Given the description of an element on the screen output the (x, y) to click on. 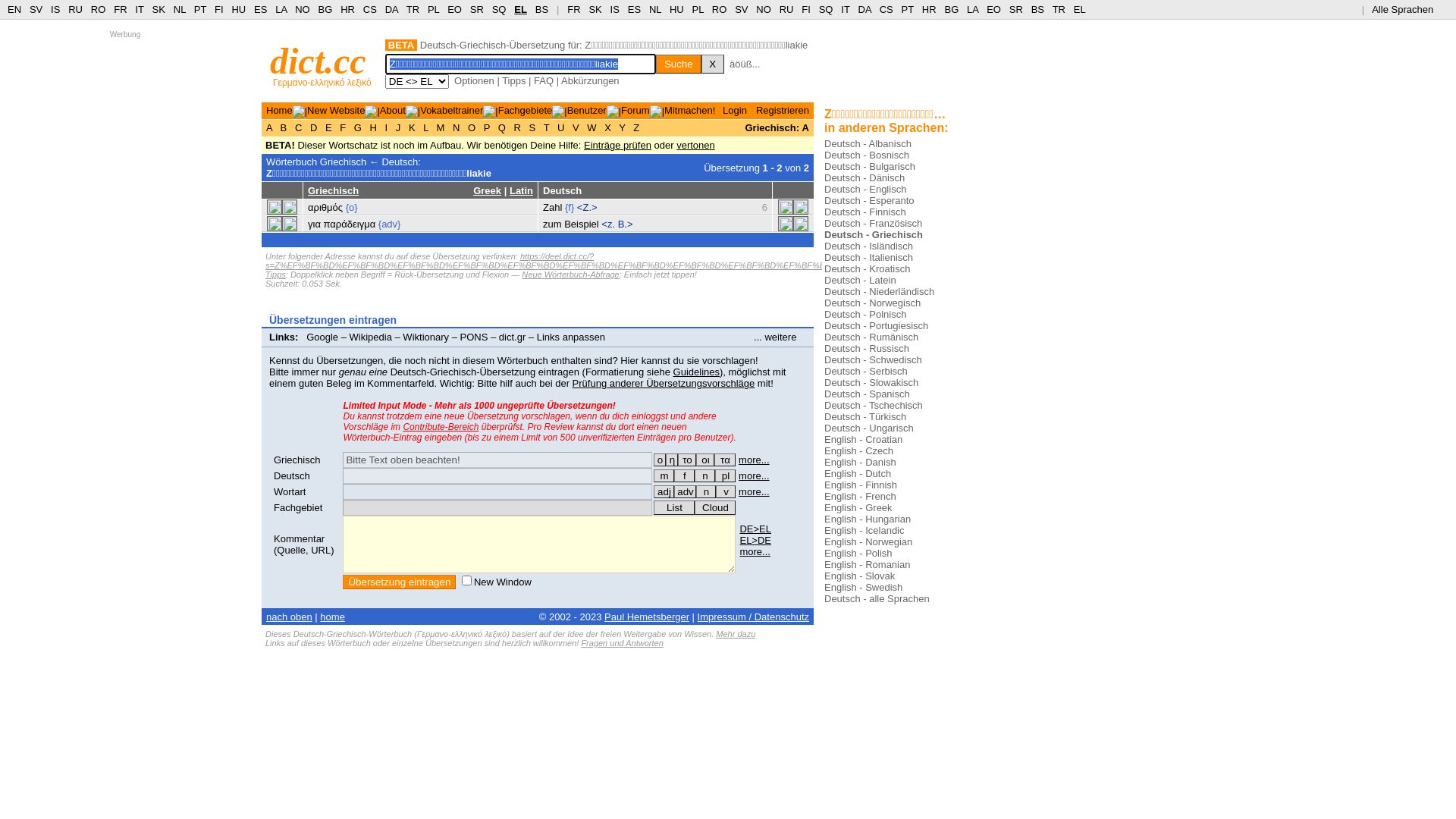
Benutzer Element type: text (586, 110)
Optionen Element type: text (474, 80)
BS Element type: text (1037, 9)
Forum Element type: text (635, 110)
Tipps Element type: text (275, 274)
SQ Element type: text (826, 9)
English - Hungarian Element type: text (867, 518)
F Element type: text (342, 127)
Beispiel Element type: text (581, 223)
Deutsch - Tschechisch Element type: text (873, 405)
Links anpassen Element type: text (570, 336)
pl Element type: text (725, 475)
Zahl Element type: text (551, 207)
SQ Element type: text (499, 9)
H Element type: text (373, 127)
v Element type: text (725, 491)
Mitmachen! Element type: text (689, 110)
dict.cc Element type: text (317, 60)
W Element type: text (591, 127)
zum Element type: text (551, 223)
Fragen und Antworten Element type: text (621, 642)
PT Element type: text (200, 9)
more... Element type: text (753, 491)
X Element type: text (712, 63)
U Element type: text (560, 127)
LA Element type: text (280, 9)
English - Slovak Element type: text (859, 575)
ES Element type: text (260, 9)
Wiktionary Element type: text (425, 336)
A Element type: text (270, 127)
RU Element type: text (75, 9)
EL Element type: text (520, 9)
HR Element type: text (347, 9)
Tipps Element type: text (513, 80)
Deutsch - Englisch Element type: text (865, 188)
X Element type: text (608, 127)
Registrieren Element type: text (782, 110)
English - Swedish Element type: text (863, 587)
CS Element type: text (369, 9)
Login Element type: text (734, 110)
IT Element type: text (138, 9)
Greek Element type: text (487, 190)
ES Element type: text (633, 9)
List Element type: text (673, 507)
IS Element type: text (54, 9)
EL Element type: text (1079, 9)
SV Element type: text (35, 9)
Z Element type: text (636, 127)
vertonen Element type: text (695, 144)
Deutsch - Bulgarisch Element type: text (869, 166)
Mehr dazu Element type: text (735, 633)
nach oben Element type: text (289, 616)
Deutsch - Portugiesisch Element type: text (876, 325)
Impressum / Datenschutz Element type: text (753, 616)
Cloud Element type: text (714, 507)
EO Element type: text (454, 9)
G Element type: text (357, 127)
Vokabeltrainer Element type: text (451, 110)
f Element type: text (684, 475)
Deutsch - Spanisch Element type: text (867, 393)
L Element type: text (425, 127)
home Element type: text (332, 616)
P Element type: text (486, 127)
English - Polish Element type: text (858, 552)
FI Element type: text (218, 9)
RO Element type: text (98, 9)
RU Element type: text (786, 9)
dict.gr Element type: text (511, 336)
Deutsch - Kroatisch Element type: text (867, 268)
Latin Element type: text (521, 190)
Paul Hemetsberger Element type: text (646, 616)
HR Element type: text (929, 9)
Alle Sprachen  Element type: text (1408, 9)
PONS Element type: text (474, 336)
FI Element type: text (805, 9)
BG Element type: text (325, 9)
NL Element type: text (655, 9)
I Element type: text (386, 127)
BS Element type: text (541, 9)
DE>EL Element type: text (755, 528)
Deutsch - Russisch Element type: text (866, 348)
Griechisch Element type: text (332, 190)
English - Finnish Element type: text (860, 484)
R Element type: text (517, 127)
Deutsch - Polnisch Element type: text (865, 314)
EL>DE Element type: text (755, 540)
Y Element type: text (621, 127)
B.> Element type: text (625, 223)
English - Greek Element type: text (858, 507)
RO Element type: text (719, 9)
N Element type: text (455, 127)
Deutsch - Schwedisch Element type: text (873, 359)
NO Element type: text (302, 9)
FR Element type: text (573, 9)
HU Element type: text (676, 9)
Deutsch - Finnisch Element type: text (865, 211)
D Element type: text (313, 127)
PL Element type: text (697, 9)
TR Element type: text (412, 9)
more... Element type: text (753, 459)
IS Element type: text (614, 9)
Wikipedia Element type: text (370, 336)
English - Czech Element type: text (858, 450)
T Element type: text (546, 127)
DA Element type: text (391, 9)
NO Element type: text (763, 9)
... weitere Element type: text (779, 336)
FR Element type: text (119, 9)
Fachgebiete Element type: text (525, 110)
Q Element type: text (501, 127)
LA Element type: text (972, 9)
<Z.> Element type: text (587, 207)
J Element type: text (397, 127)
CS Element type: text (886, 9)
n Element type: text (704, 475)
Deutsch - Italienisch Element type: text (868, 257)
die - Mehrzahl (Plural) Element type: hover (725, 475)
English - Icelandic Element type: text (864, 530)
EN Element type: text (14, 9)
n Element type: text (705, 491)
PT Element type: text (907, 9)
English - French Element type: text (860, 496)
About Element type: text (392, 110)
FAQ Element type: text (543, 80)
BG Element type: text (951, 9)
O Element type: text (470, 127)
Deutsch - Serbisch Element type: text (865, 370)
K Element type: text (411, 127)
C Element type: text (297, 127)
more... Element type: text (754, 551)
NL Element type: text (179, 9)
m Element type: text (663, 475)
SR Element type: text (476, 9)
English - Danish Element type: text (860, 461)
Deutsch - Griechisch Element type: text (873, 234)
IT Element type: text (844, 9)
Home Element type: text (279, 110)
English - Romanian Element type: text (867, 564)
Google Element type: text (322, 336)
more... Element type: text (753, 475)
English - Norwegian Element type: text (868, 541)
English - Croatian Element type: text (863, 439)
Deutsch - Slowakisch Element type: text (871, 382)
Deutsch Element type: text (291, 475)
SV Element type: text (740, 9)
Deutsch - Latein Element type: text (860, 279)
Deutsch - Ungarisch Element type: text (868, 427)
V Element type: text (575, 127)
Suche Element type: text (678, 63)
PL Element type: text (433, 9)
DA Element type: text (864, 9)
<z. Element type: text (608, 223)
EO Element type: text (993, 9)
S Element type: text (532, 127)
New Website Element type: text (335, 110)
SK Element type: text (594, 9)
M Element type: text (440, 127)
Deutsch - alle Sprachen Element type: text (876, 598)
Deutsch - Norwegisch Element type: text (872, 302)
SR Element type: text (1015, 9)
SK Element type: text (158, 9)
Guidelines Element type: text (696, 371)
Griechisch Element type: text (296, 459)
Deutsch - Albanisch Element type: text (867, 143)
Deutsch - Esperanto Element type: text (869, 200)
TR Element type: text (1058, 9)
English - Dutch Element type: text (857, 473)
E Element type: text (328, 127)
die - weiblich (Femininum) Element type: hover (684, 475)
adv Element type: text (685, 491)
Contribute-Bereich Element type: text (440, 426)
Deutsch - Bosnisch Element type: text (866, 154)
B Element type: text (283, 127)
adj Element type: text (663, 491)
HU Element type: text (238, 9)
